Given the description of an element on the screen output the (x, y) to click on. 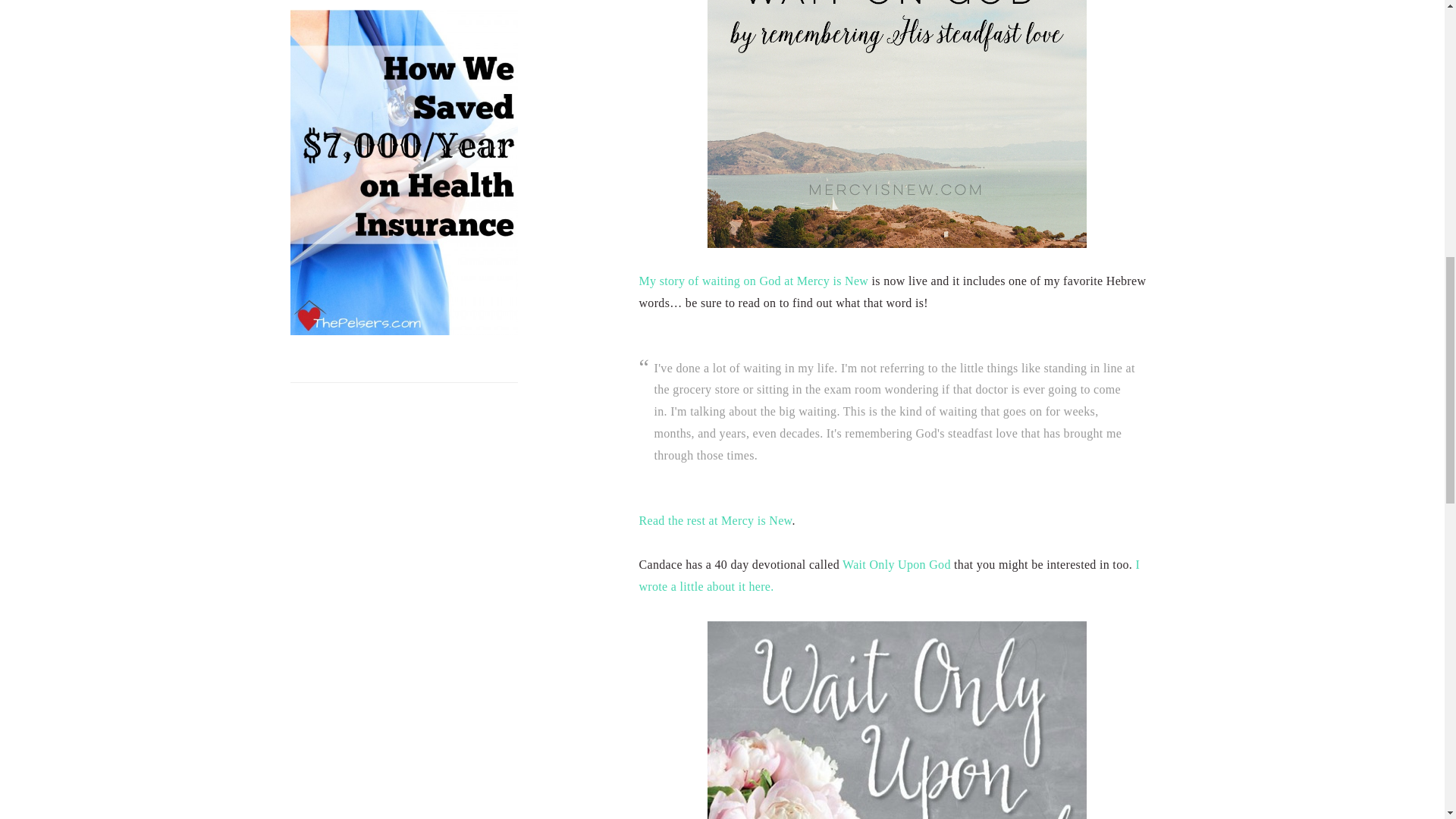
Wait Only Upon God (896, 563)
I wrote a little about it here. (889, 574)
My story of waiting on God at Mercy is New (753, 280)
Waiting for God: Learning to Wait Only Upon Him (889, 574)
Read the rest at Mercy is New (715, 520)
